Given the description of an element on the screen output the (x, y) to click on. 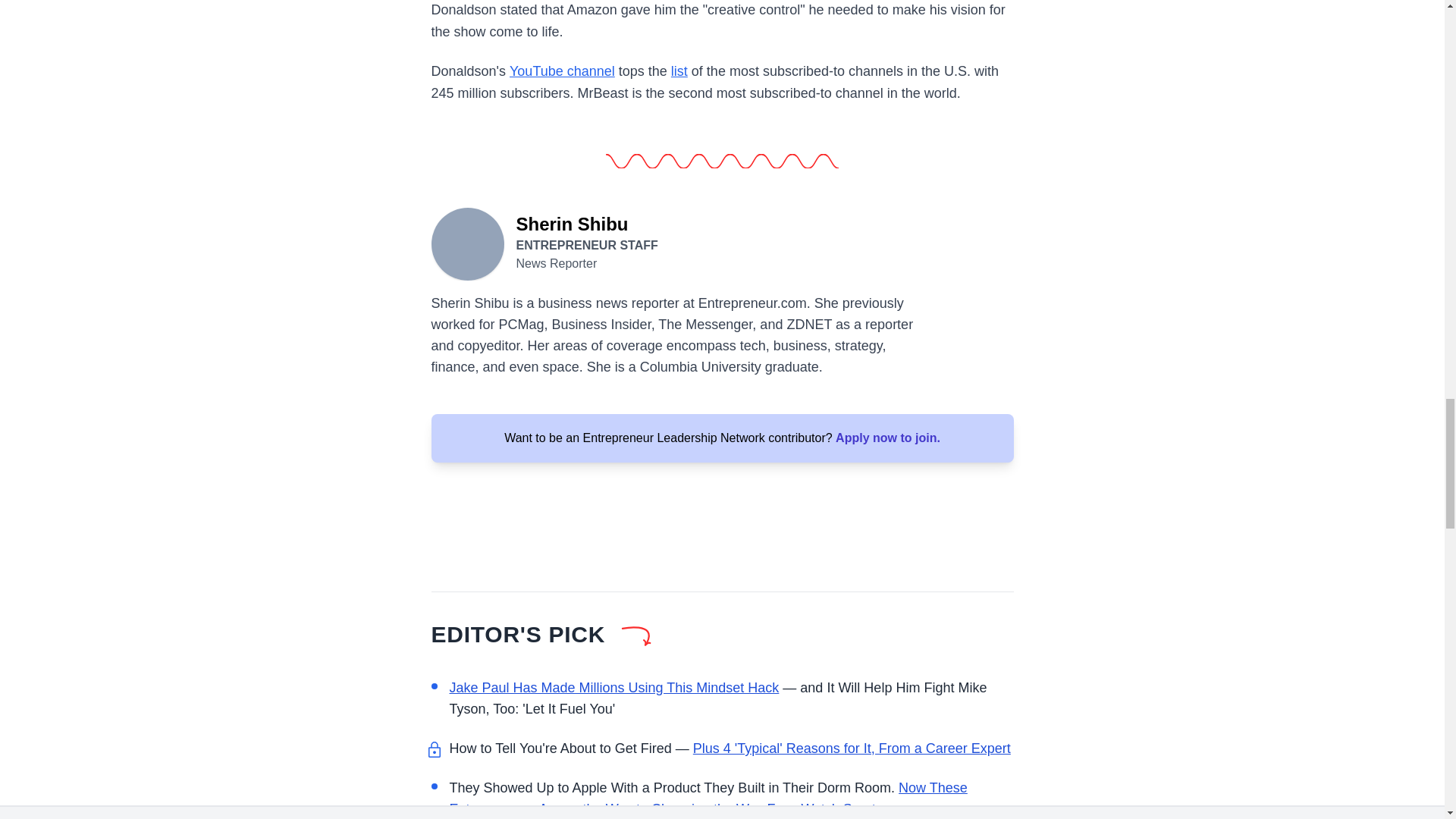
Sherin Shibu (466, 242)
